Given the description of an element on the screen output the (x, y) to click on. 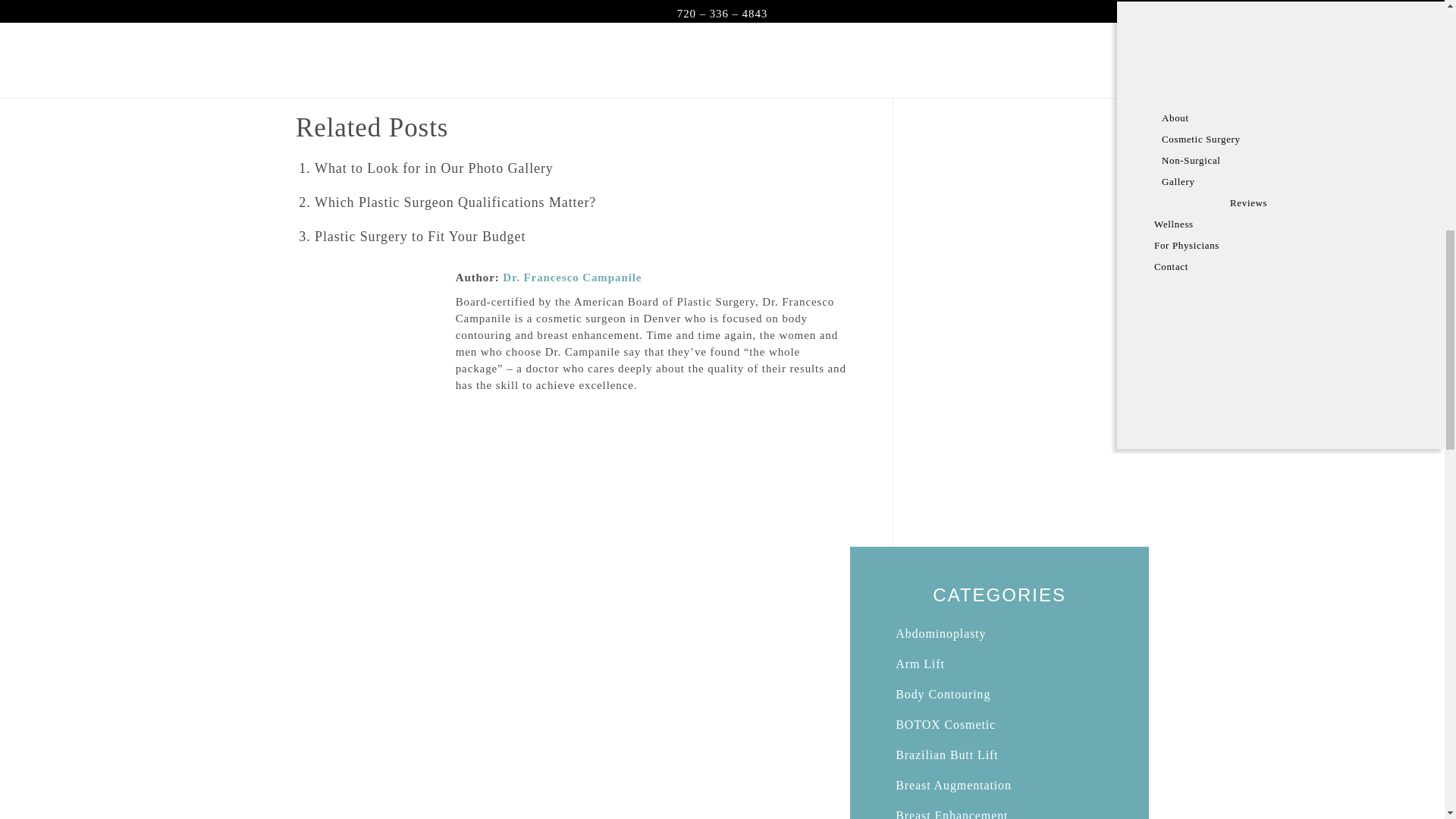
Which Plastic Surgeon Qualifications Matter? (454, 201)
Plastic Surgery to Fit Your Budget (419, 236)
What to Look for in Our Photo Gallery (433, 168)
